Given the description of an element on the screen output the (x, y) to click on. 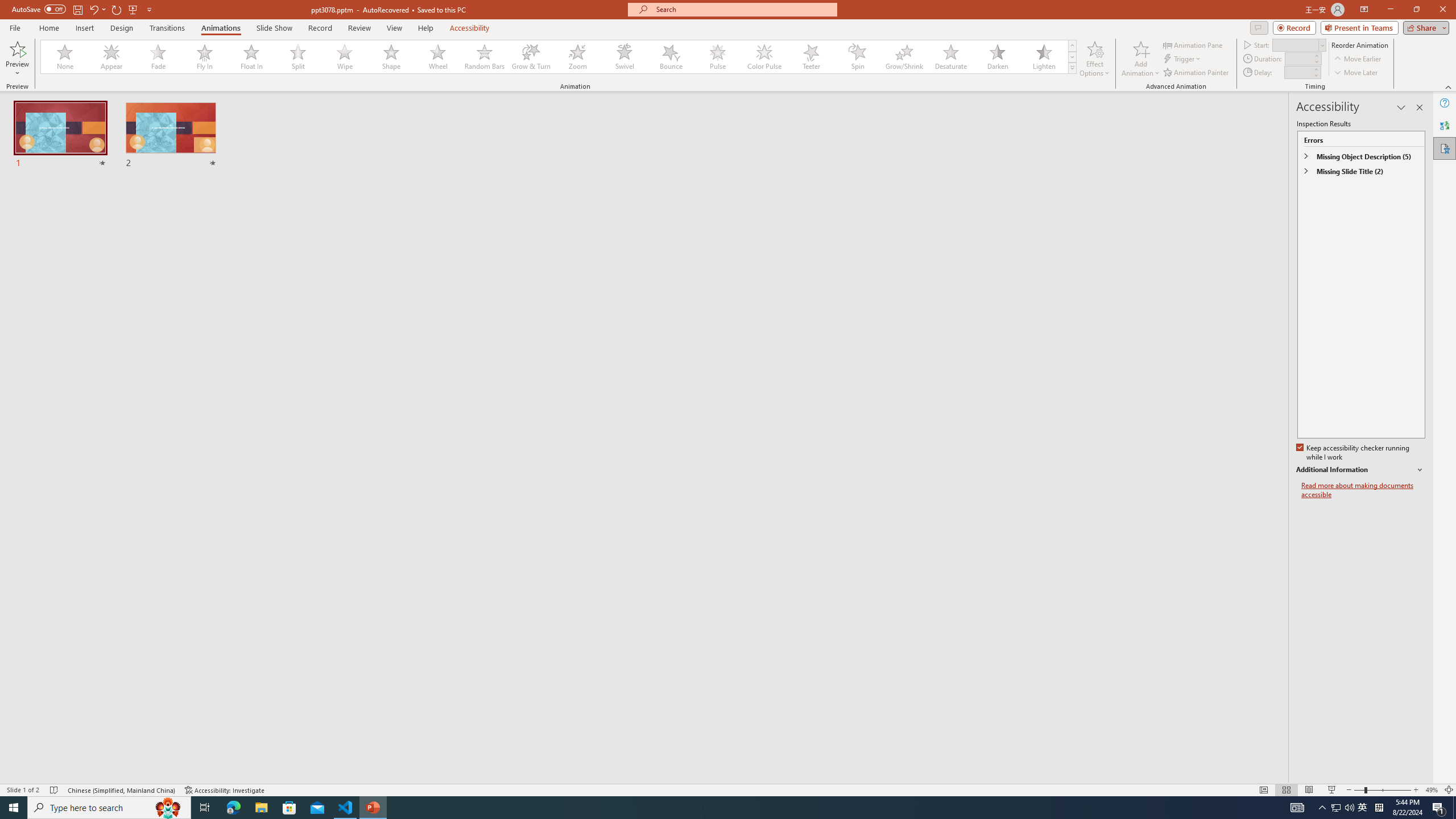
Fade (158, 56)
Color Pulse (764, 56)
Float In (251, 56)
Keep accessibility checker running while I work (1353, 452)
Split (298, 56)
Teeter (810, 56)
Animation Duration (1298, 58)
